Given the description of an element on the screen output the (x, y) to click on. 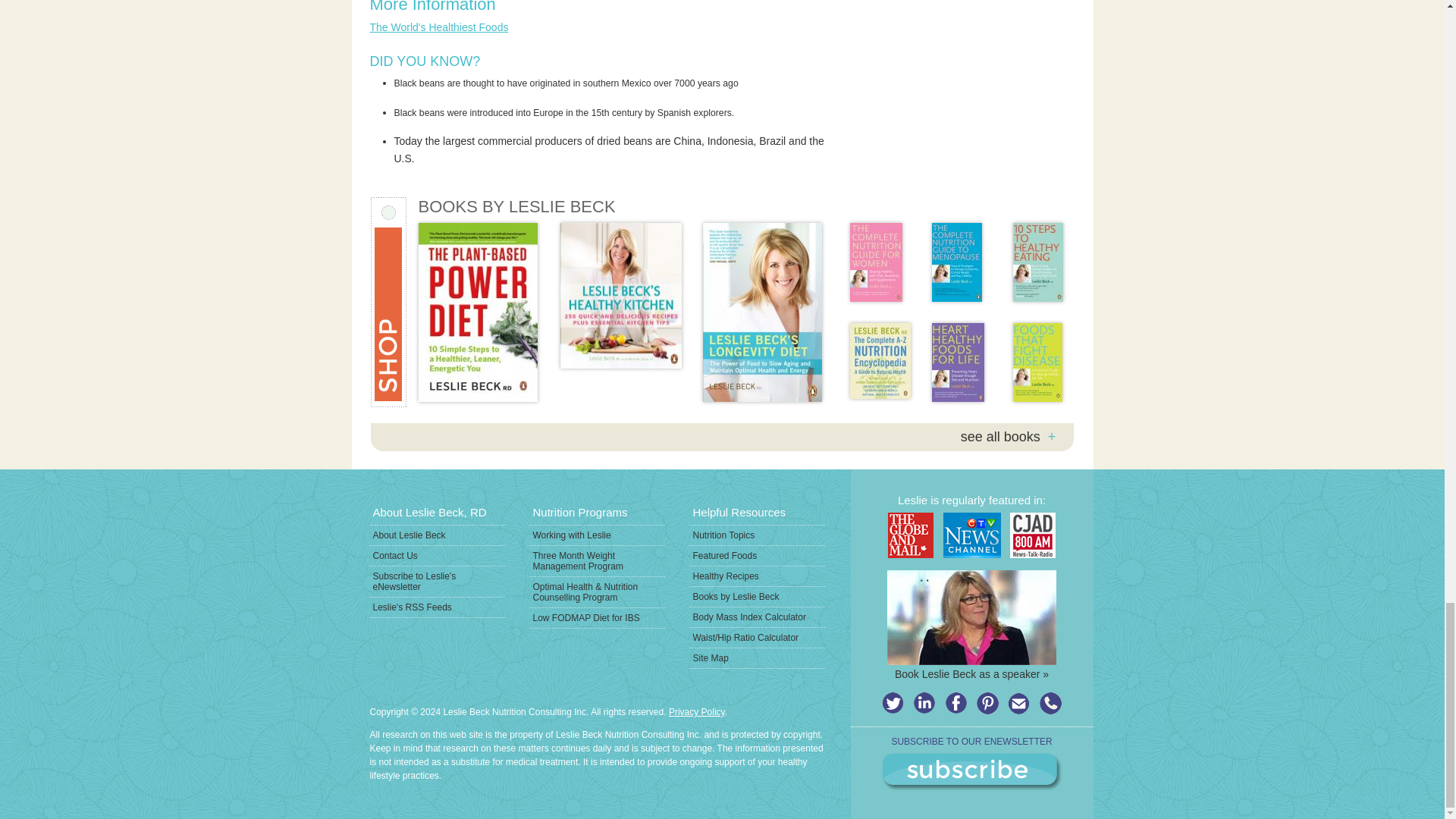
The World's Healthiest Foods (438, 27)
